Given the description of an element on the screen output the (x, y) to click on. 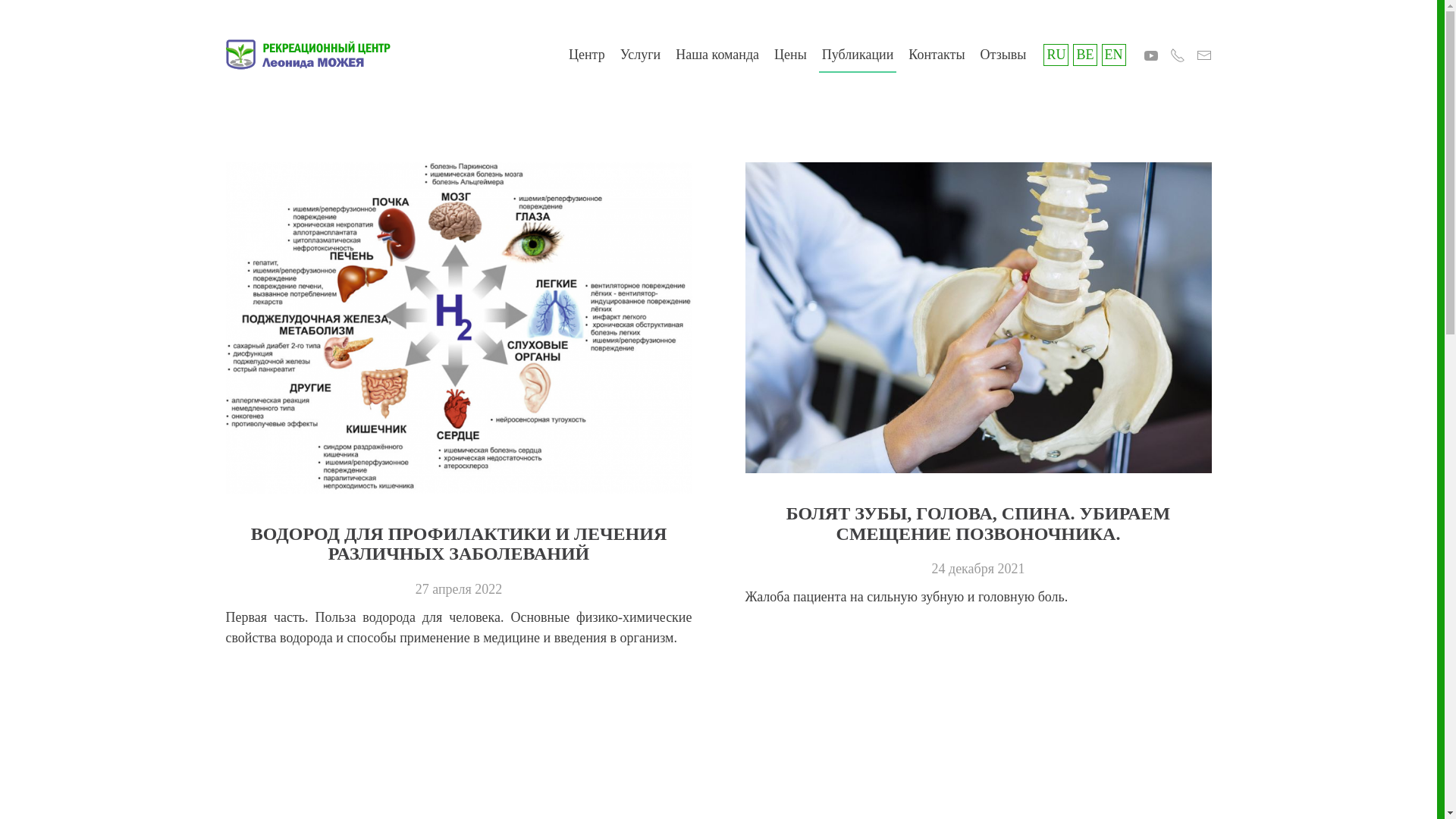
RU Element type: text (1055, 54)
BE Element type: text (1084, 54)
EN Element type: text (1113, 54)
